Given the description of an element on the screen output the (x, y) to click on. 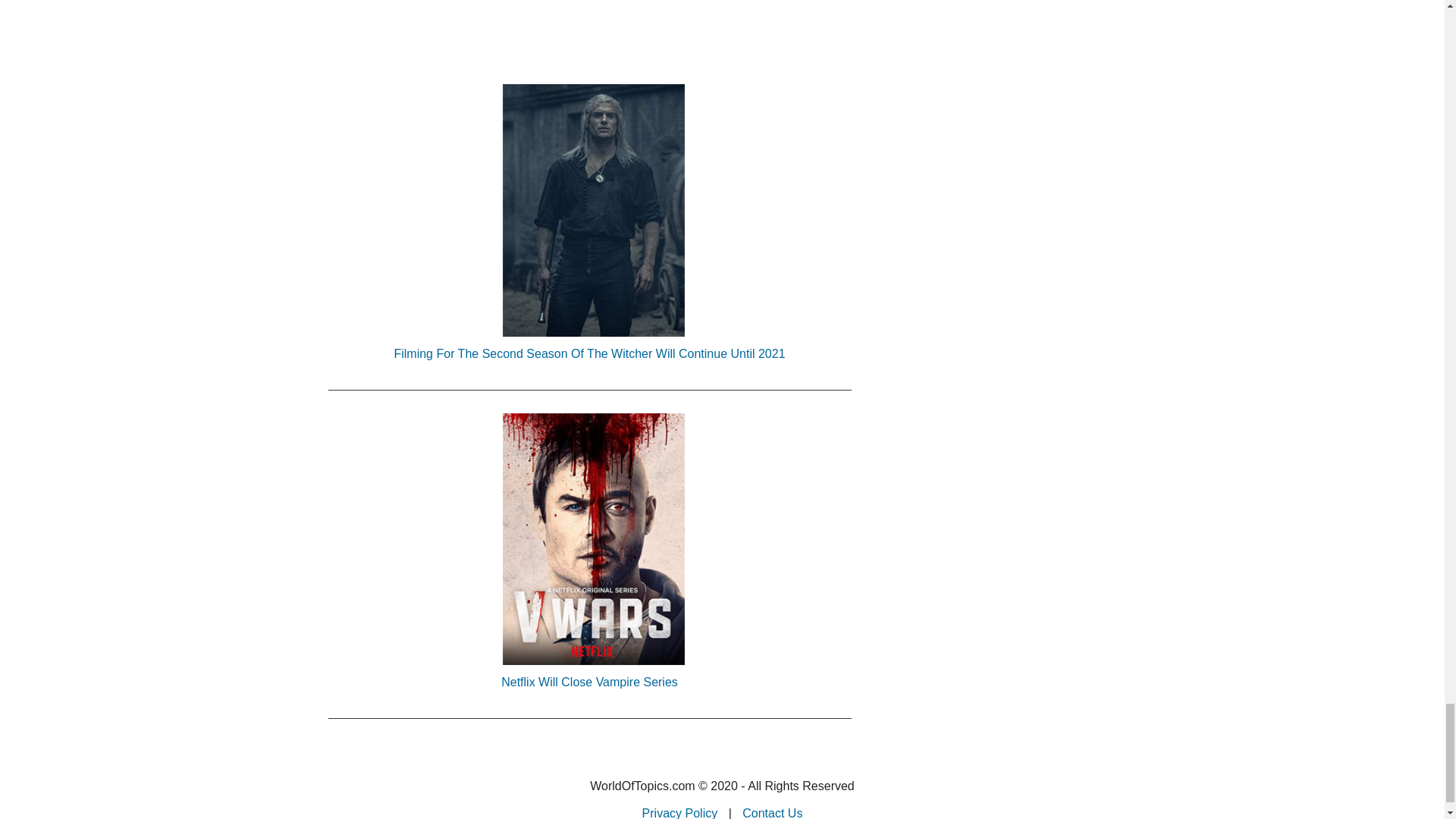
Contact Us (772, 812)
Netflix Will Close Vampire Series (588, 681)
Privacy Policy (679, 812)
